Given the description of an element on the screen output the (x, y) to click on. 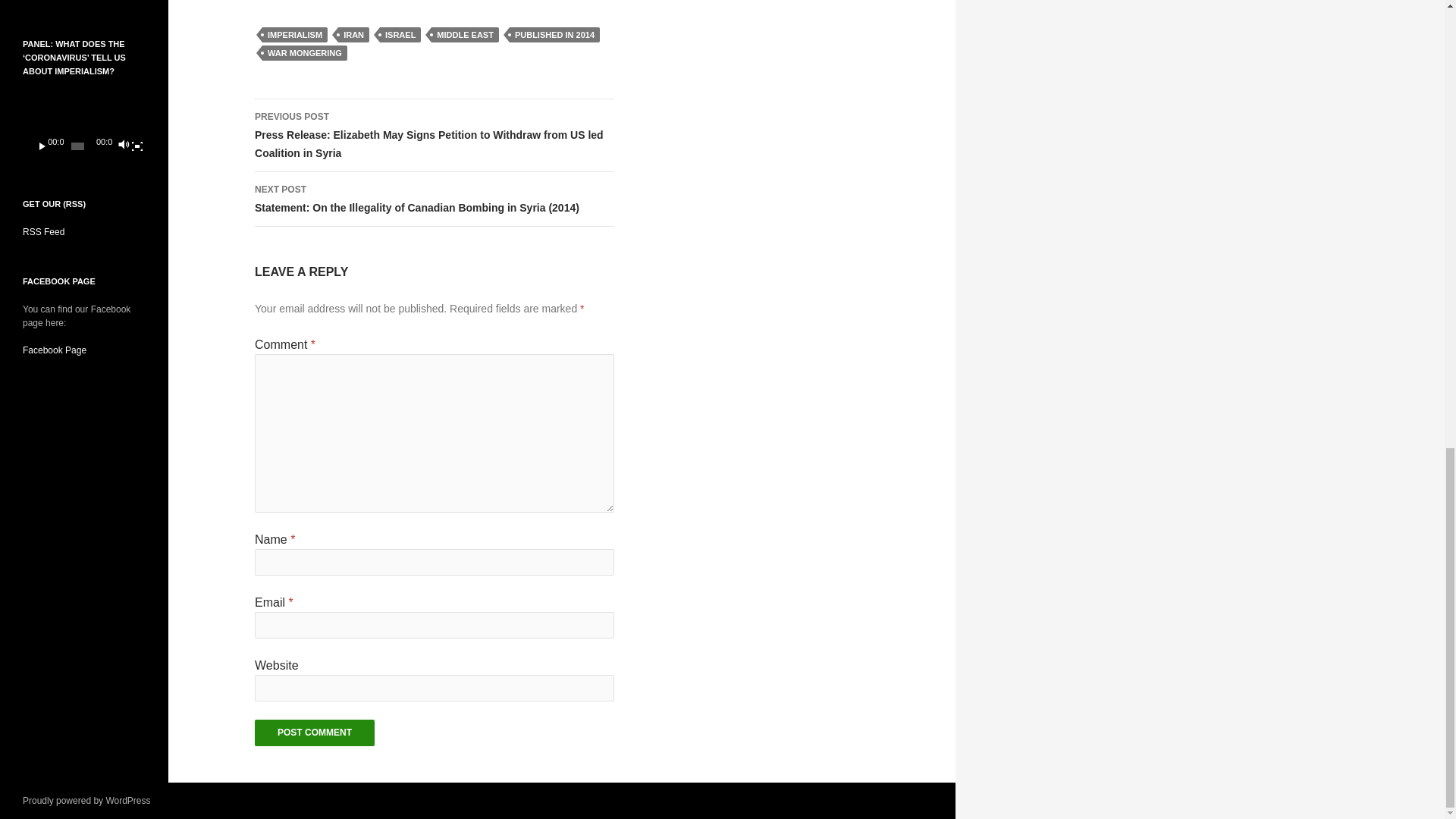
Post Comment (314, 732)
PUBLISHED IN 2014 (554, 34)
ISRAEL (400, 34)
Post Comment (314, 732)
Fullscreen (136, 145)
IMPERIALISM (294, 34)
MIDDLE EAST (464, 34)
Play (41, 145)
IRAN (353, 34)
WAR MONGERING (304, 52)
